Given the description of an element on the screen output the (x, y) to click on. 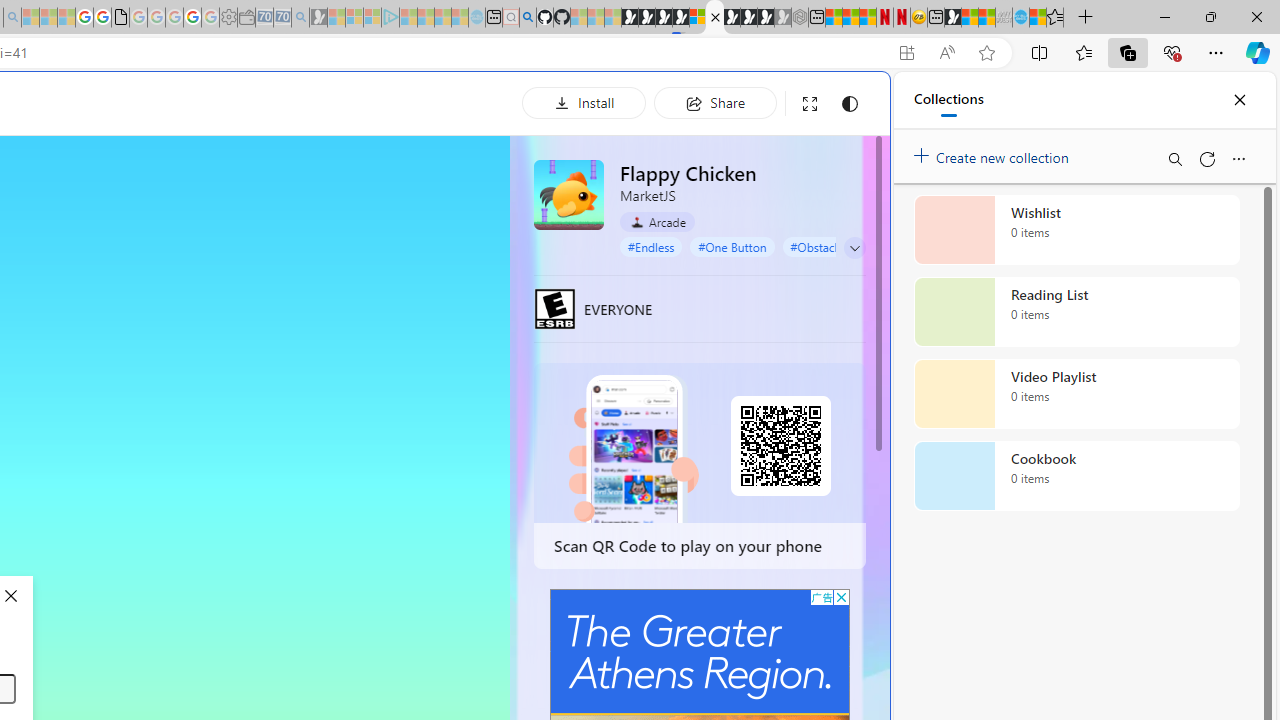
github - Search (527, 17)
Frequently visited (418, 265)
Class: expand-arrow neutral (854, 247)
More options menu (1238, 158)
App available. Install Flappy Chicken (906, 53)
Flappy Chicken (568, 194)
Earth has six continents not seven, radical new study claims (986, 17)
